Given the description of an element on the screen output the (x, y) to click on. 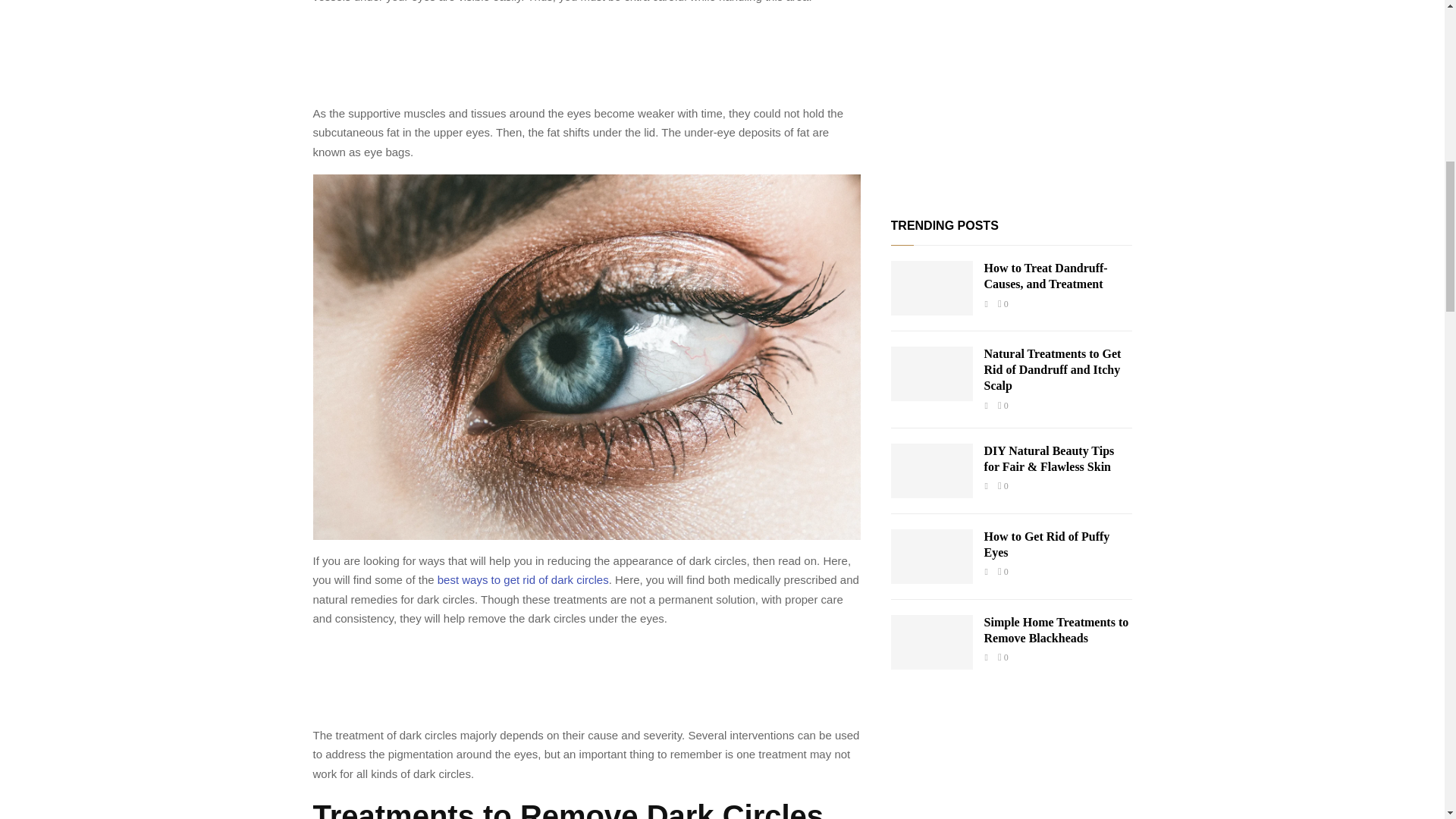
3rd party ad content (1011, 94)
3rd party ad content (586, 683)
How to Treat Dandruff- Causes, and Treatment (931, 288)
3rd party ad content (586, 61)
